Given the description of an element on the screen output the (x, y) to click on. 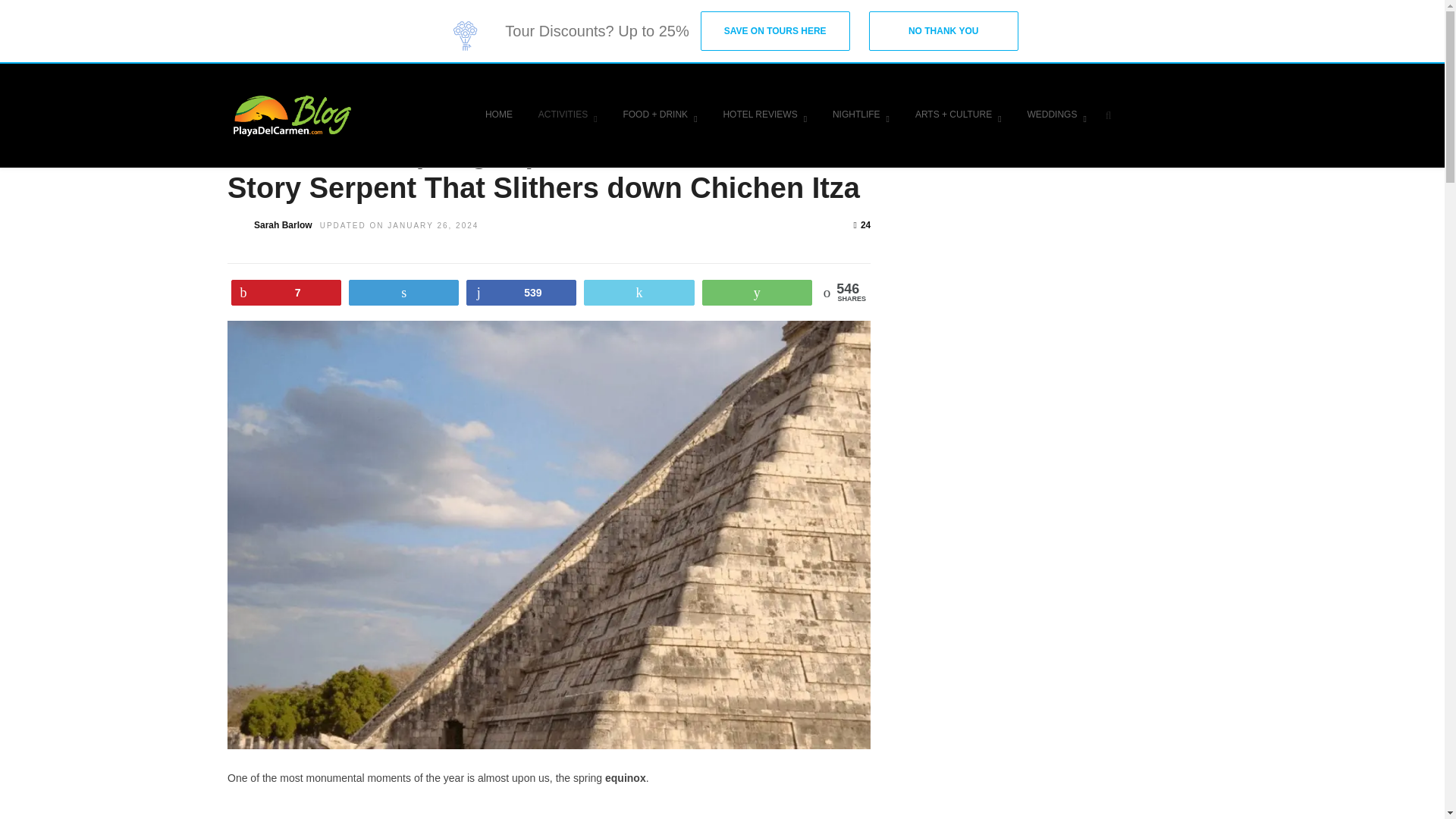
NO THANK YOU (943, 30)
SAVE ON TOURS HERE (775, 30)
